Given the description of an element on the screen output the (x, y) to click on. 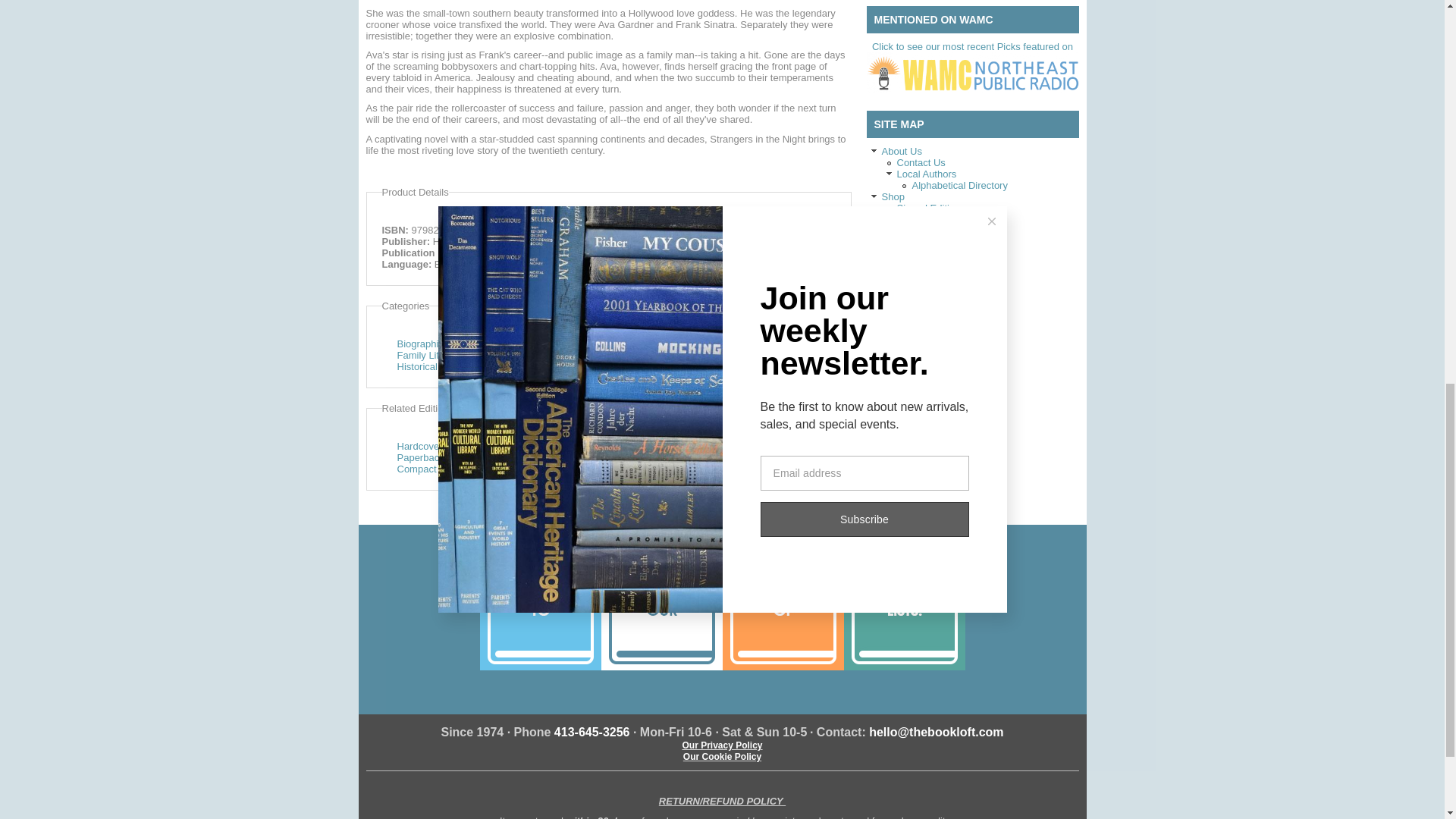
The various ways to contact us, depending on what you want (920, 162)
Historical - General (439, 366)
Contact Us (920, 162)
Click to see our most recent Picks featured on (972, 67)
About Us (900, 151)
Local Author Alphabetical Directory (959, 184)
Biographical (424, 343)
